Given the description of an element on the screen output the (x, y) to click on. 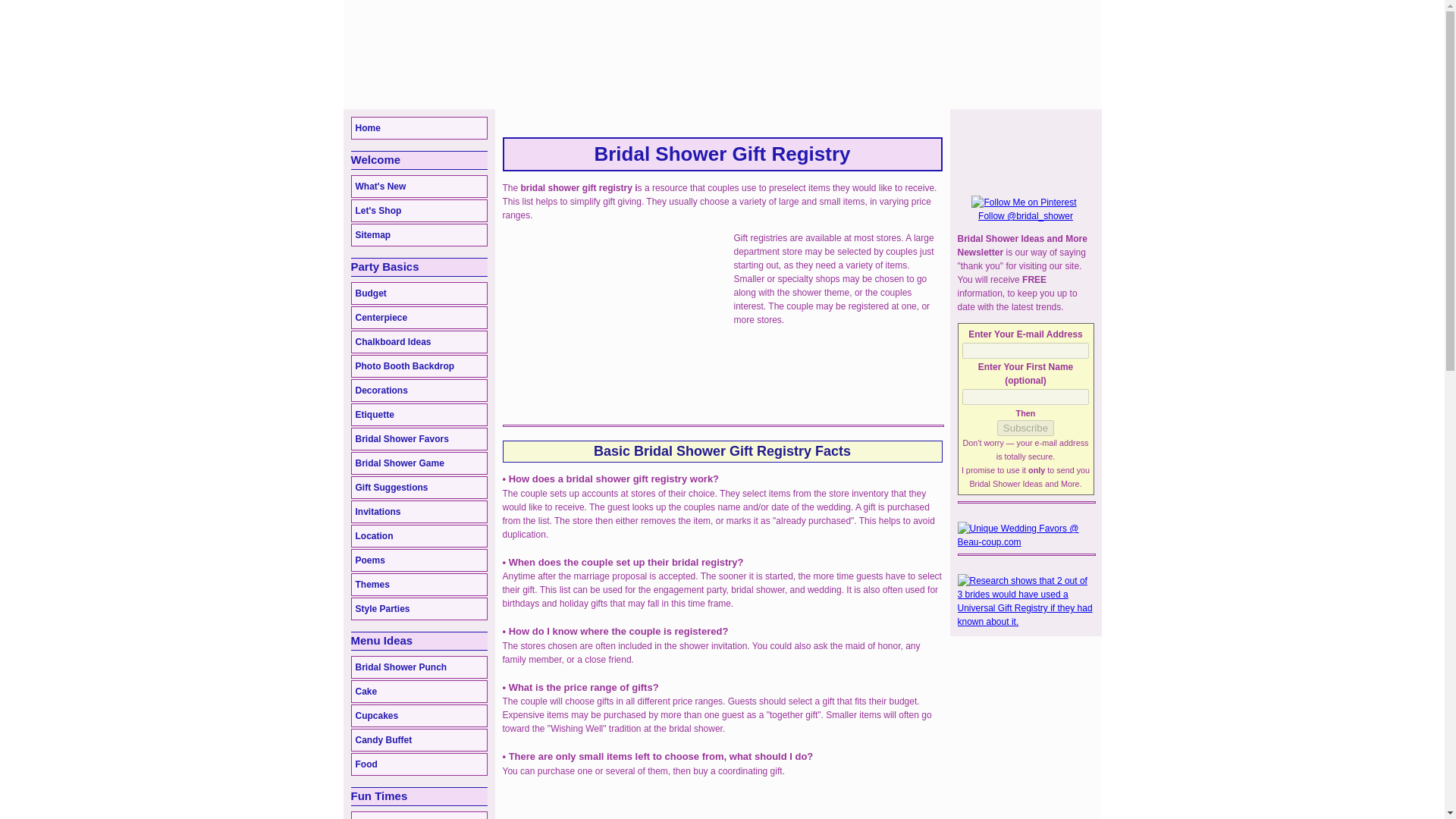
Budget (418, 292)
Poems (418, 559)
Let's Shop (418, 210)
Chalkboard Ideas (418, 341)
Etiquette (418, 414)
Centerpiece (418, 317)
Bridal Shower Punch (418, 667)
Cupcakes (418, 715)
Sitemap (418, 234)
Decorations (418, 390)
